Given the description of an element on the screen output the (x, y) to click on. 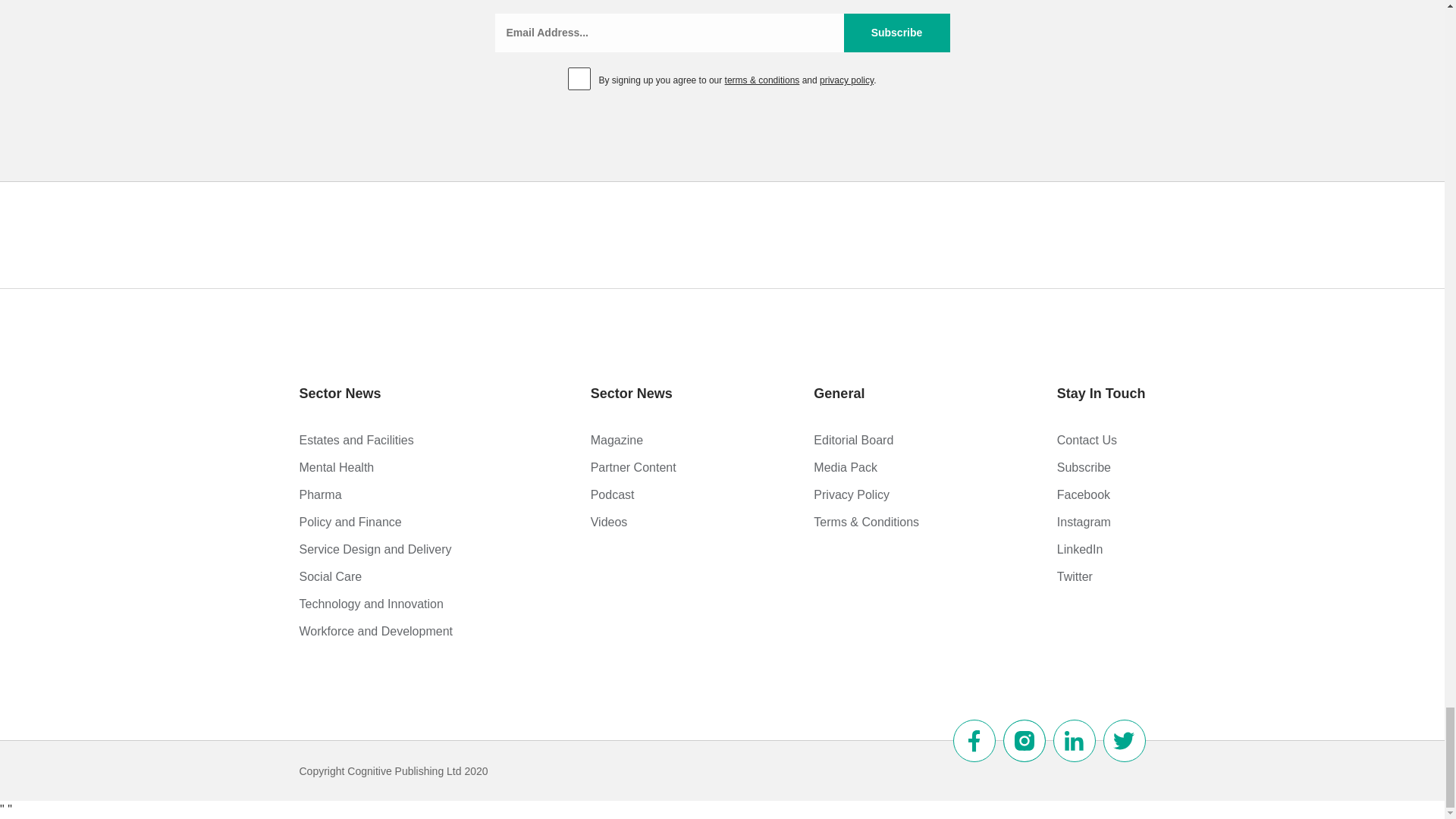
Subscribe (896, 32)
